Given the description of an element on the screen output the (x, y) to click on. 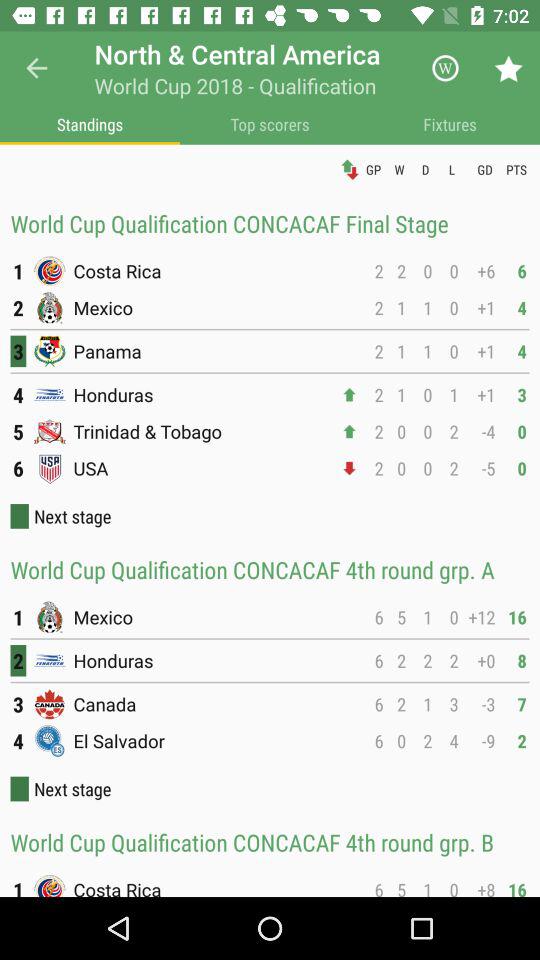
choose item next to standings (270, 124)
